Given the description of an element on the screen output the (x, y) to click on. 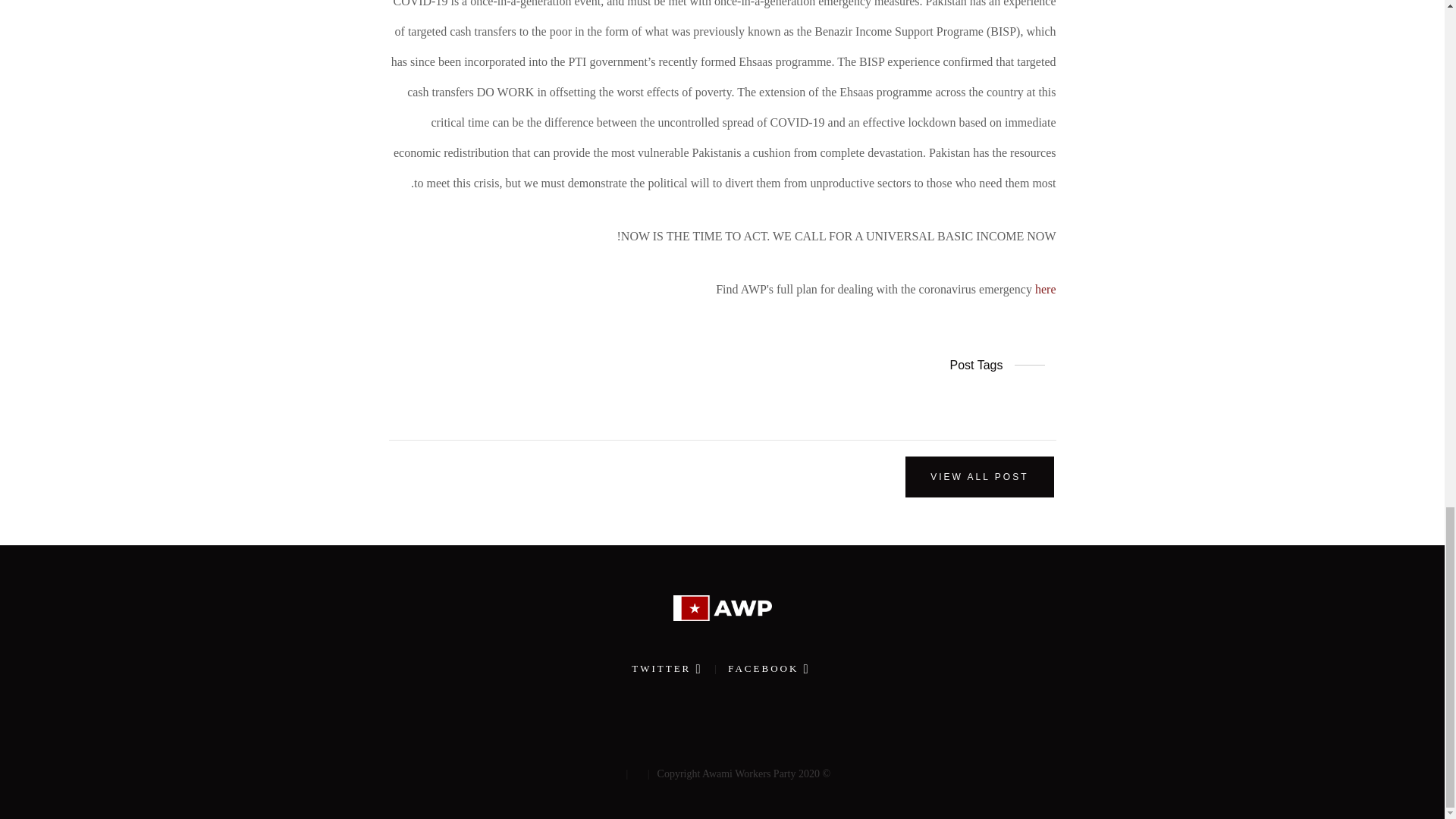
FACEBOOK (764, 668)
here (1046, 288)
TWITTER (665, 668)
VIEW ALL POST (978, 476)
